Given the description of an element on the screen output the (x, y) to click on. 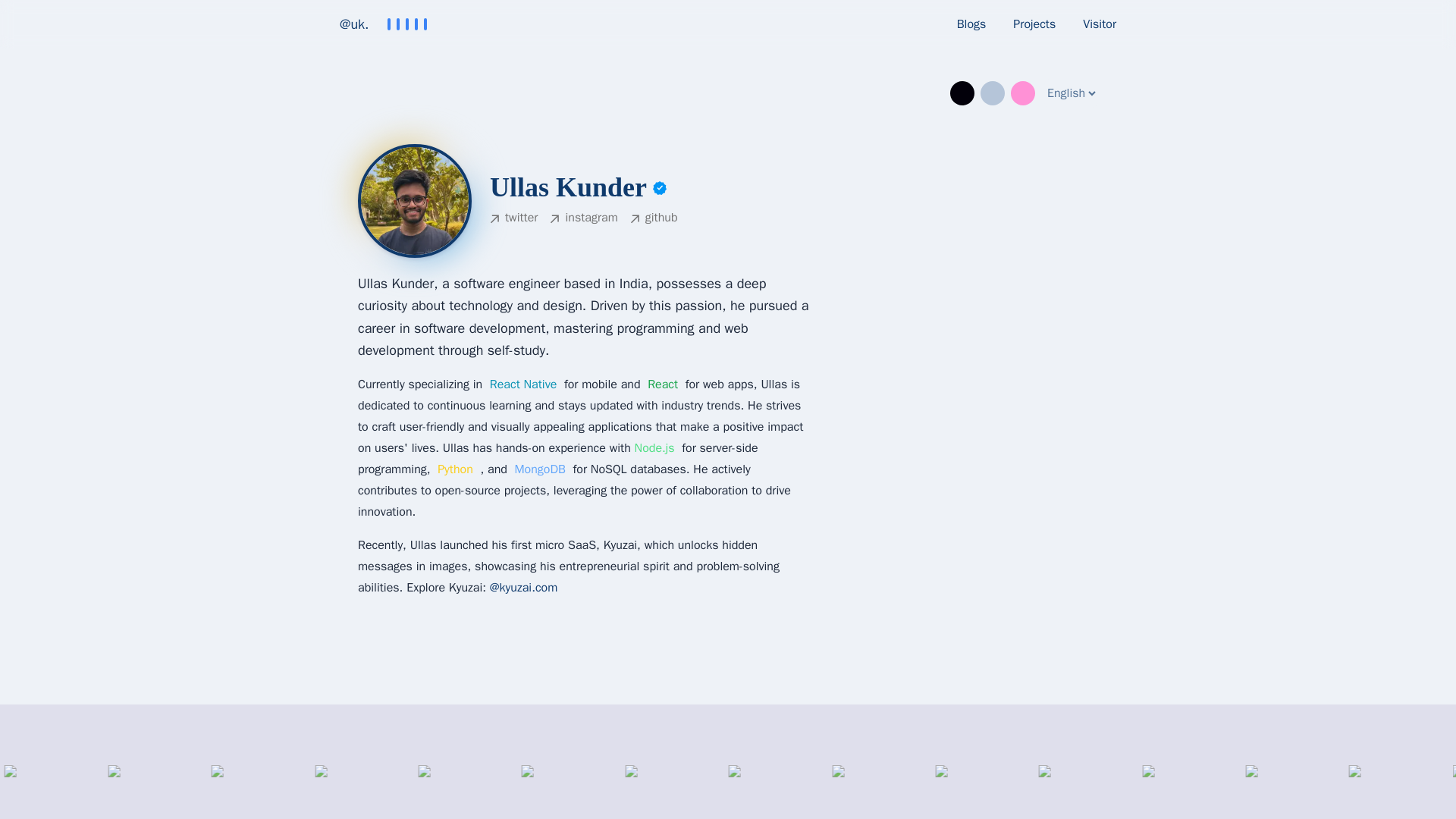
jest icon (803, 783)
Python (455, 468)
javascript icon (701, 783)
github icon (393, 783)
nodejs (654, 447)
Projects (1034, 24)
one piece is real (414, 200)
Python (455, 468)
github (654, 219)
css3 icon (187, 783)
